Given the description of an element on the screen output the (x, y) to click on. 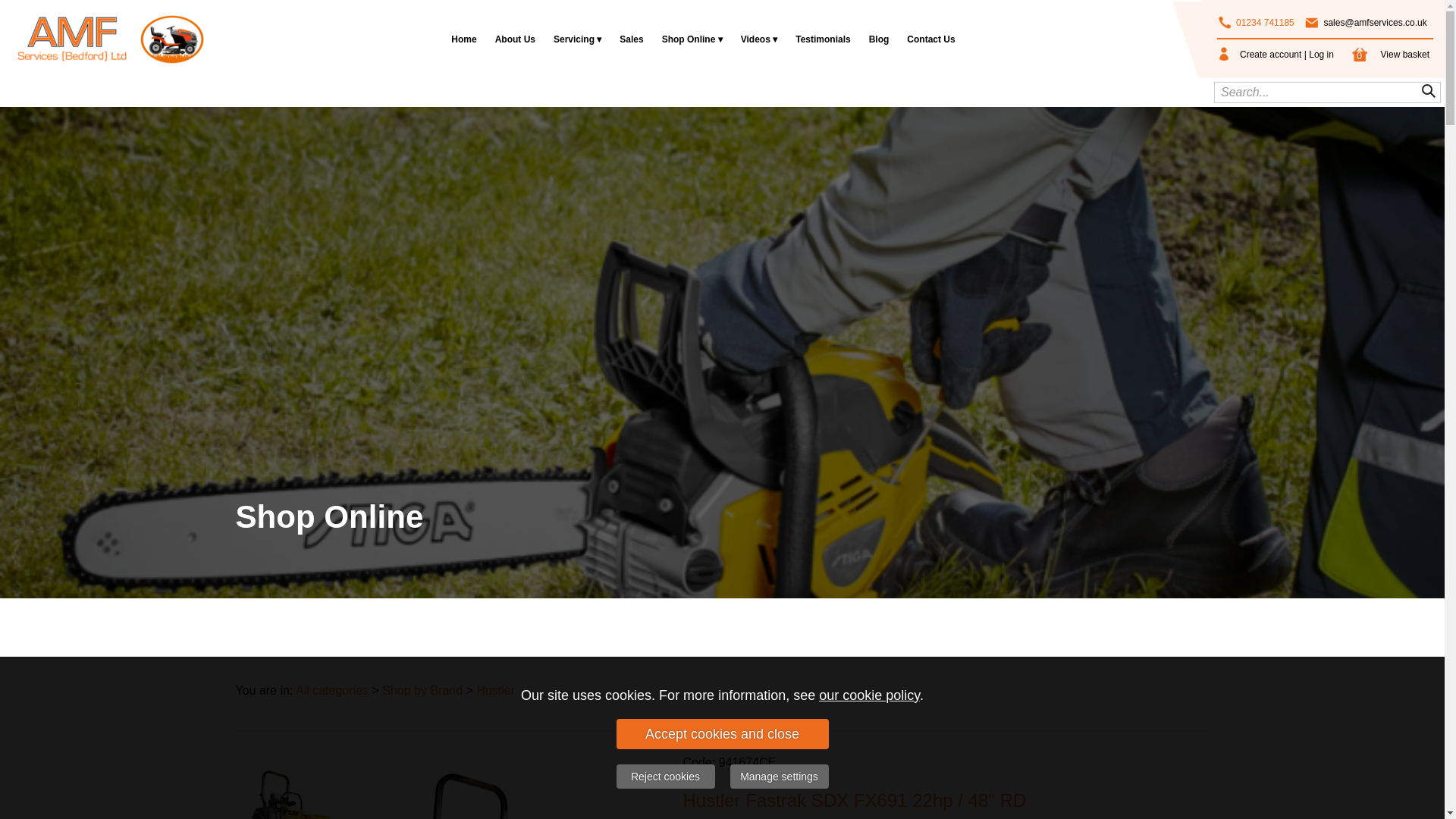
Sales (631, 39)
Home (463, 39)
Shop Online (692, 39)
Servicing (577, 39)
About Us (515, 39)
